Given the description of an element on the screen output the (x, y) to click on. 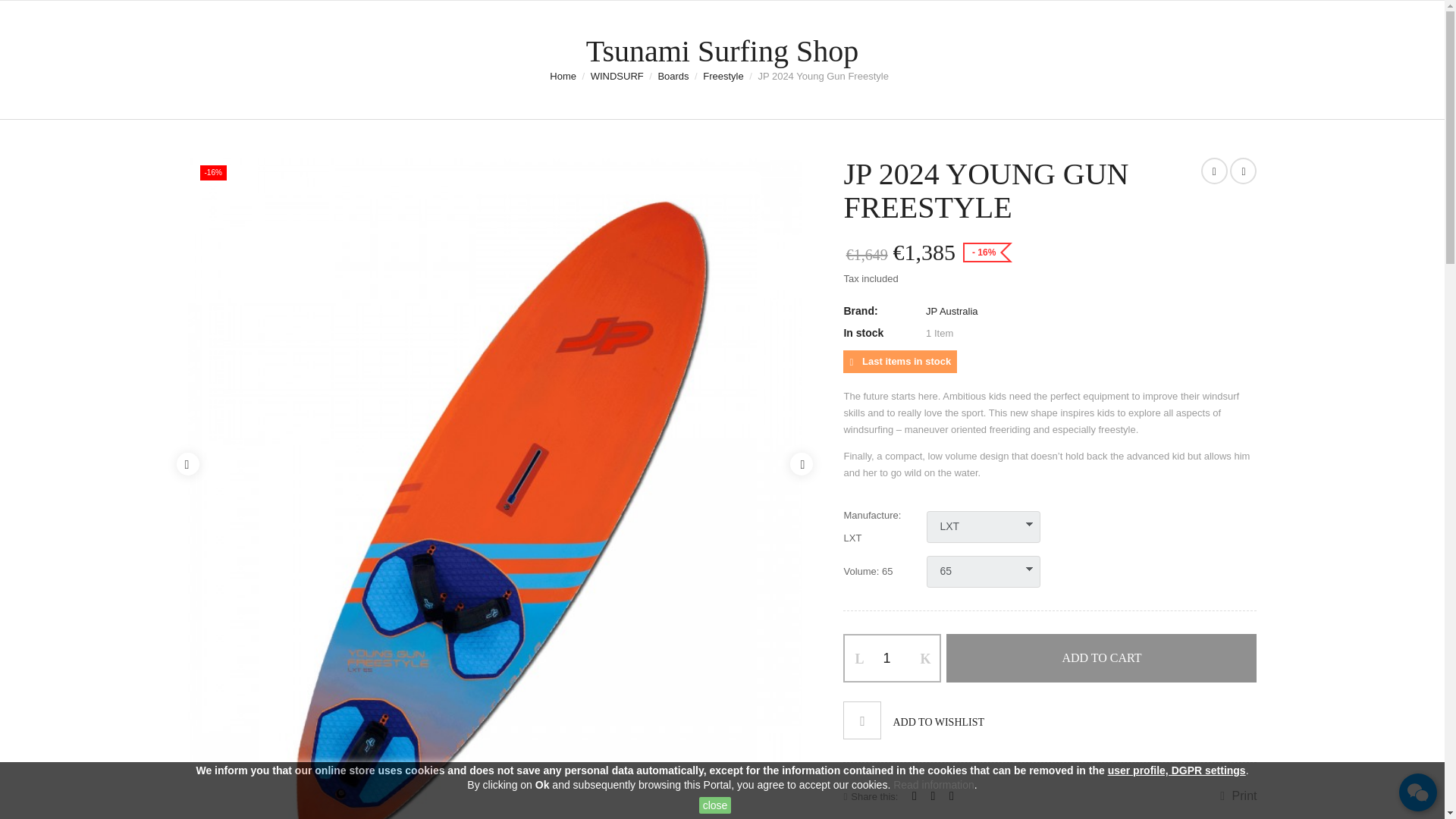
JP 2024 Magic Ride Family (1243, 171)
Starboard 2024 Kode Wood (1214, 171)
Add to Wishlist (913, 720)
1 (891, 657)
